Given the description of an element on the screen output the (x, y) to click on. 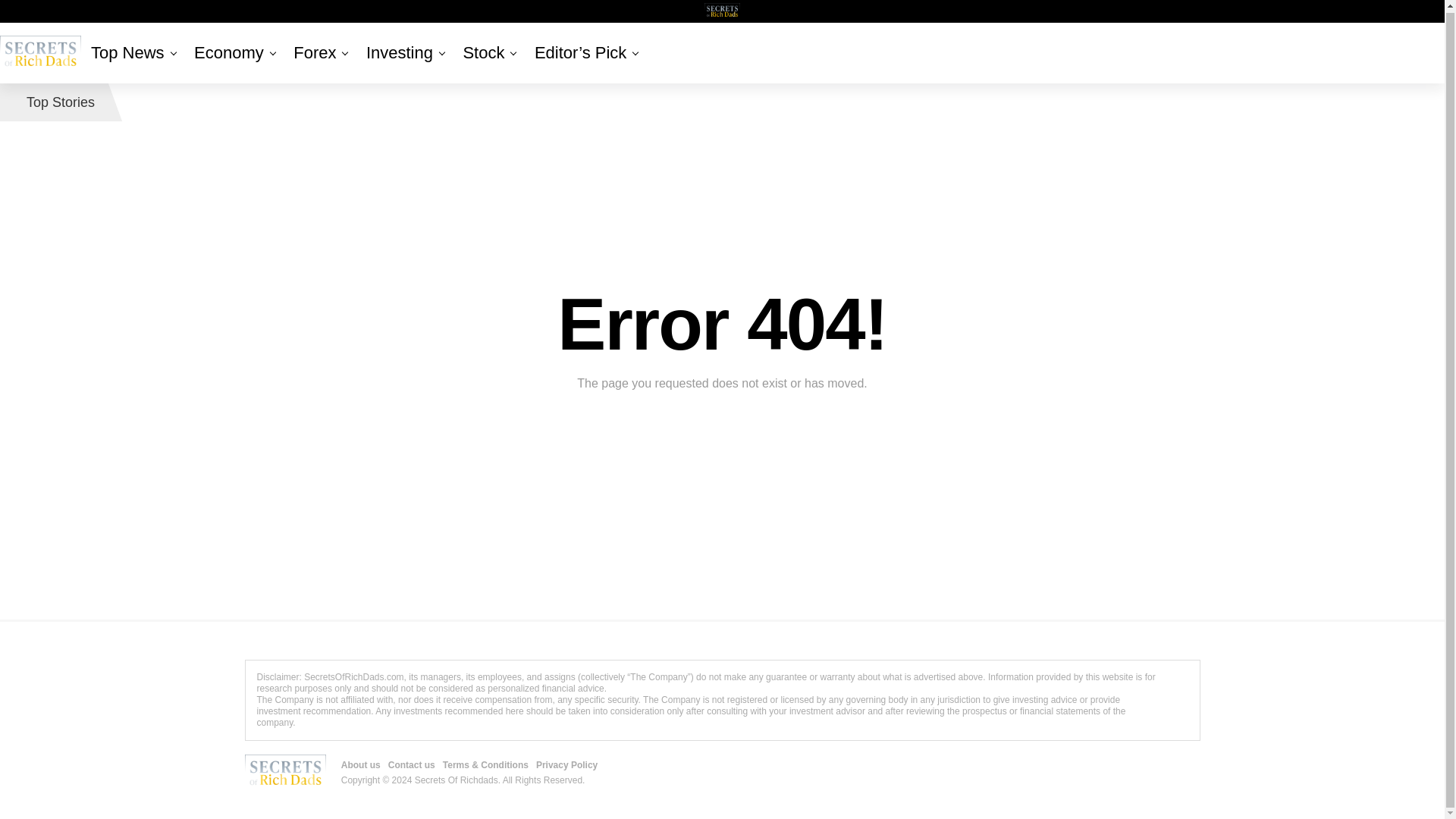
Contact Us (77, 33)
Forex (314, 52)
About Us (40, 37)
Investing (399, 52)
Stock (483, 52)
Privacy Policy (187, 33)
Top News (130, 52)
Economy (228, 52)
